Given the description of an element on the screen output the (x, y) to click on. 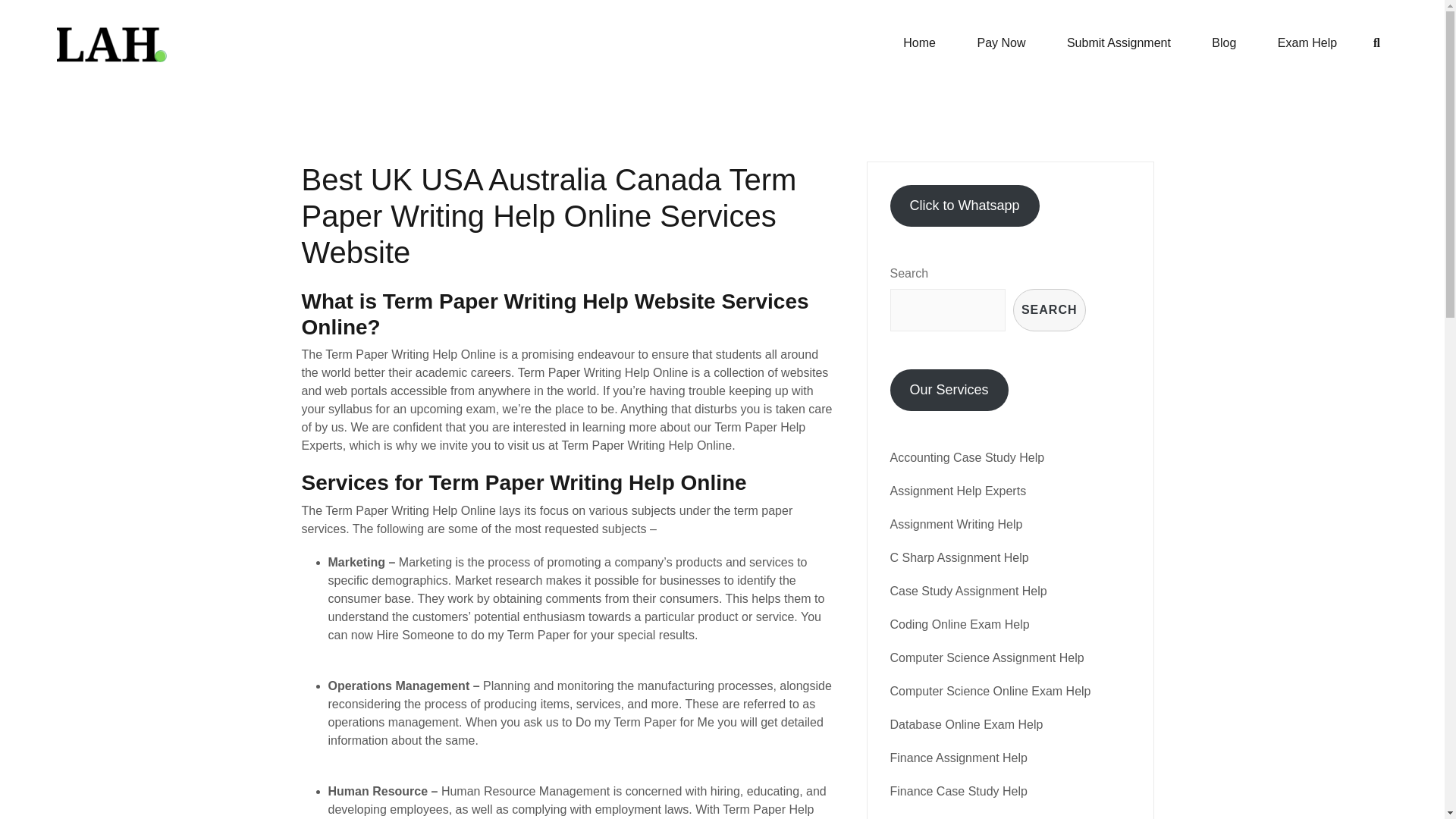
Home (919, 42)
Accounting Case Study Help (967, 457)
Finance Assignment Help (958, 757)
Submit Assignment (1118, 42)
SEARCH (1049, 310)
Case Study Assignment Help (967, 590)
Finance Case Study Help (958, 790)
Database Online Exam Help (966, 724)
Assignment Help Experts (957, 490)
